Given the description of an element on the screen output the (x, y) to click on. 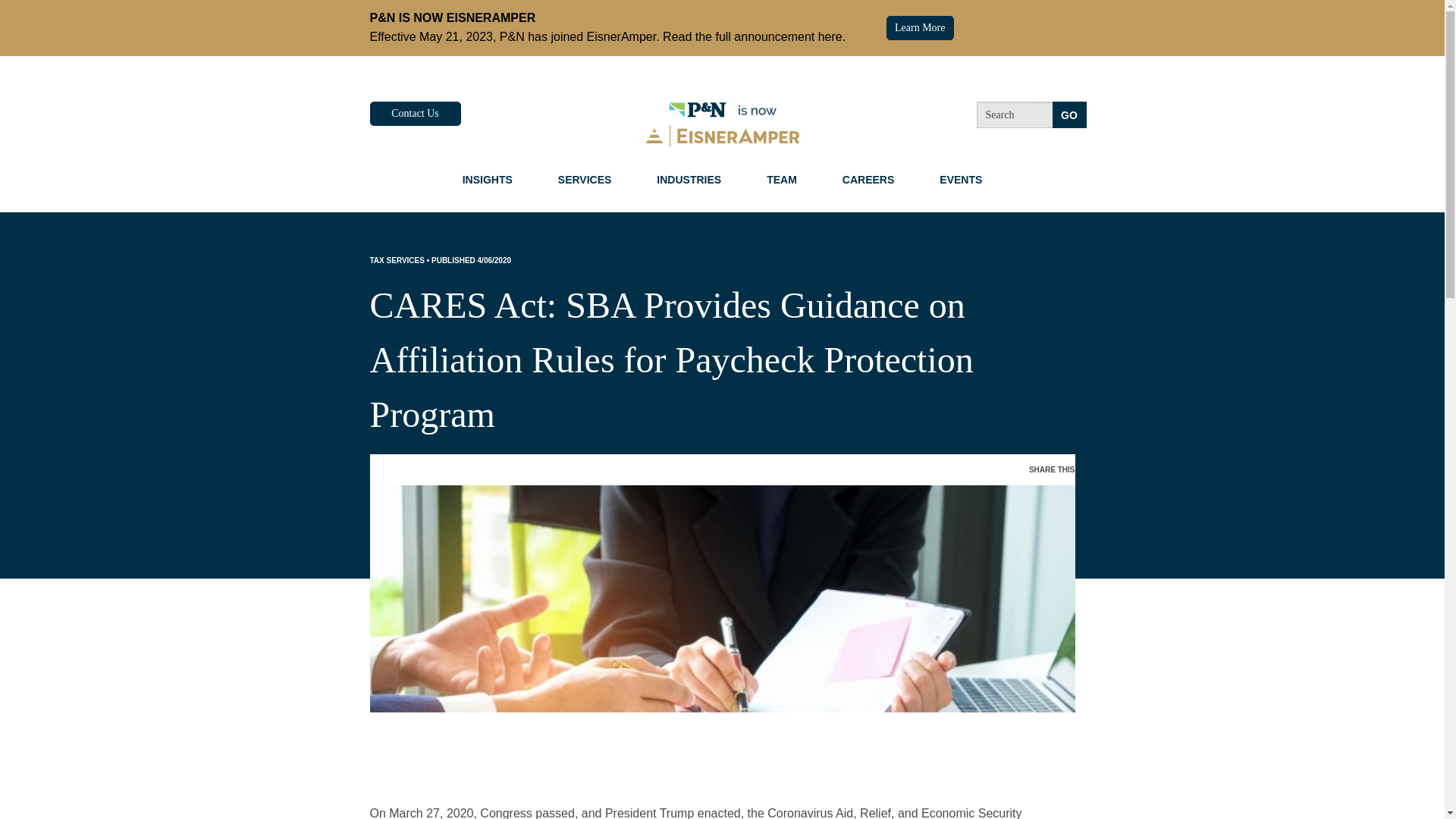
Contact Us (415, 113)
Go (1069, 114)
Learn More (919, 27)
INSIGHTS (486, 179)
SERVICES (585, 179)
Go (1069, 114)
INDUSTRIES (689, 179)
